Given the description of an element on the screen output the (x, y) to click on. 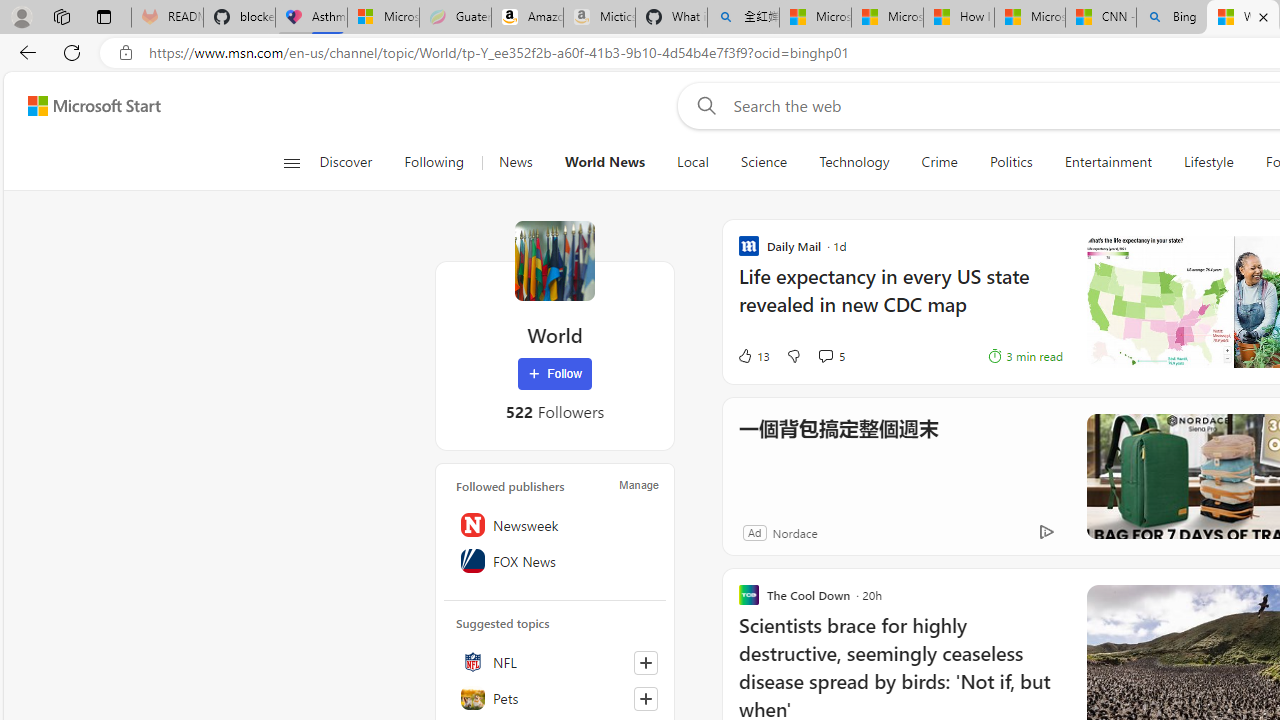
Skip to footer (82, 105)
World News (605, 162)
Ad Choice (1046, 532)
Entertainment (1107, 162)
Local (693, 162)
Skip to content (86, 105)
Crime (939, 162)
Bing (1171, 17)
Life expectancy in every US state revealed in new CDC map (900, 300)
How I Got Rid of Microsoft Edge's Unnecessary Features (959, 17)
Class: button-glyph (290, 162)
